Given the description of an element on the screen output the (x, y) to click on. 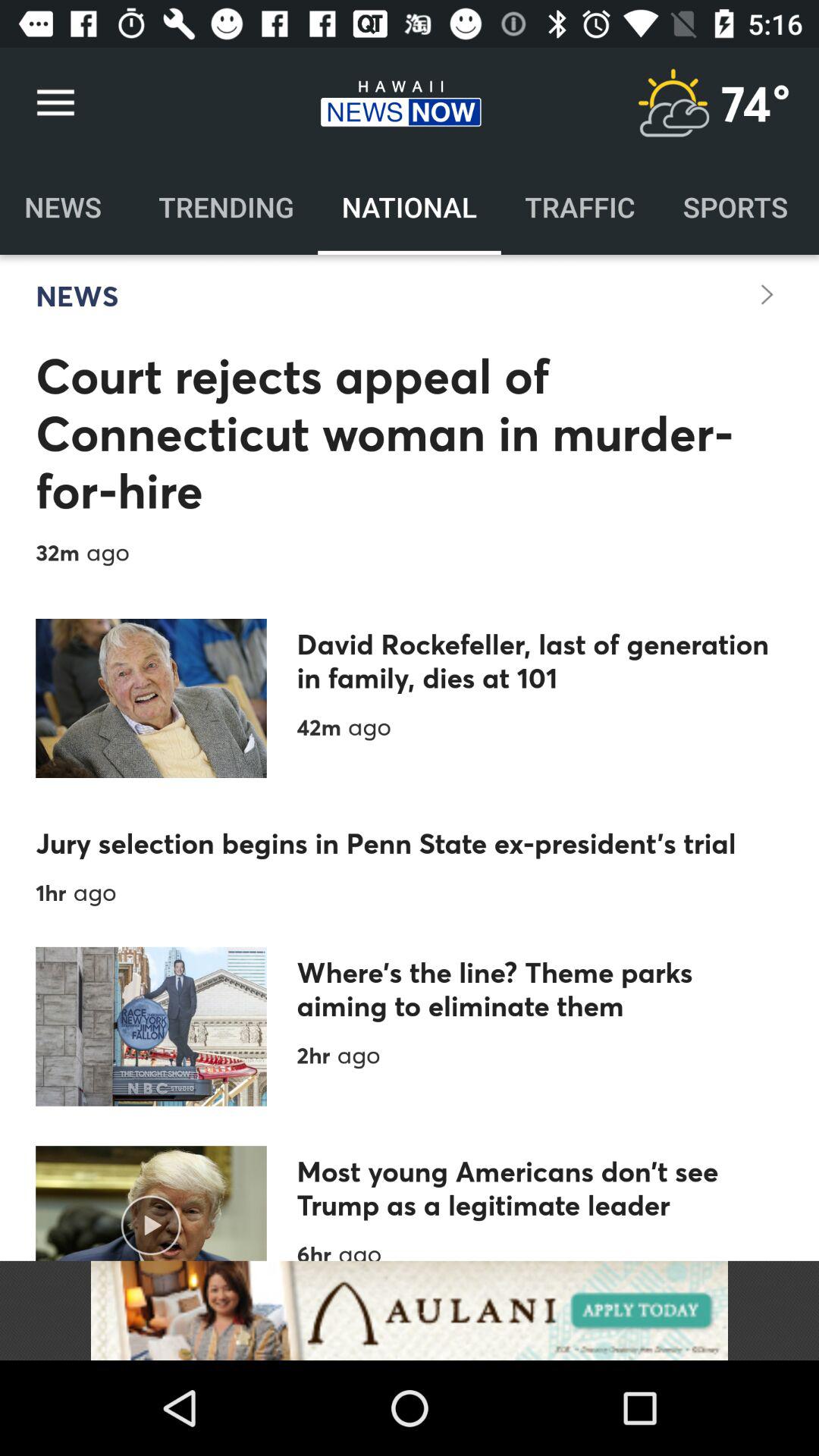
advertisement link (409, 1310)
